Given the description of an element on the screen output the (x, y) to click on. 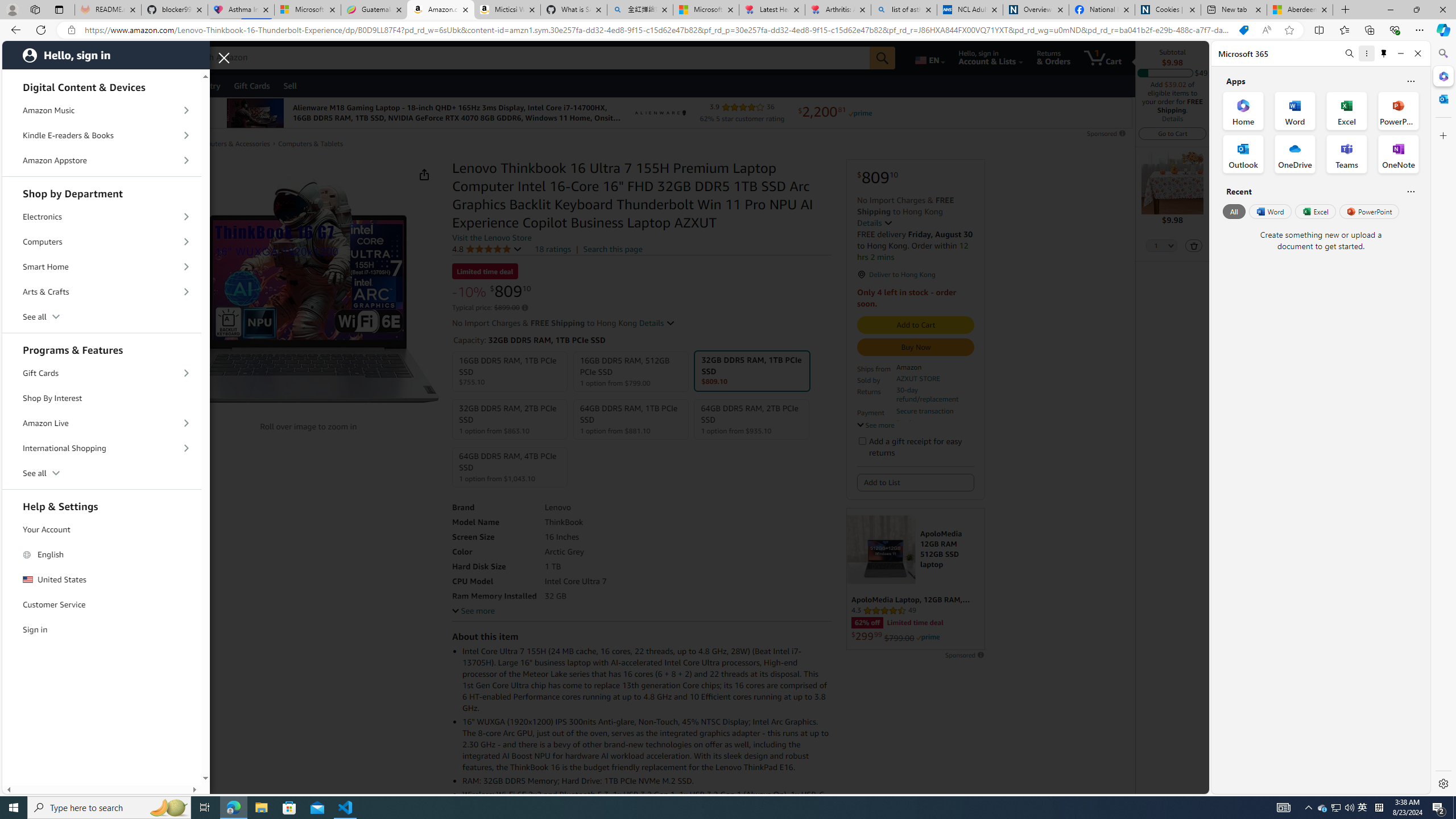
Add to List (915, 482)
OneDrive Office App (1295, 154)
Arthritis: Ask Health Professionals (838, 9)
See all (101, 472)
Computers (101, 241)
Word Office App (1295, 110)
Cookies | About | NICE (1167, 9)
English (101, 554)
Logo (660, 112)
16GB DDR5 RAM, 512GB PCIe SSD 1 option from $799.00 (630, 371)
International Shopping (101, 448)
International Shopping (101, 448)
